Given the description of an element on the screen output the (x, y) to click on. 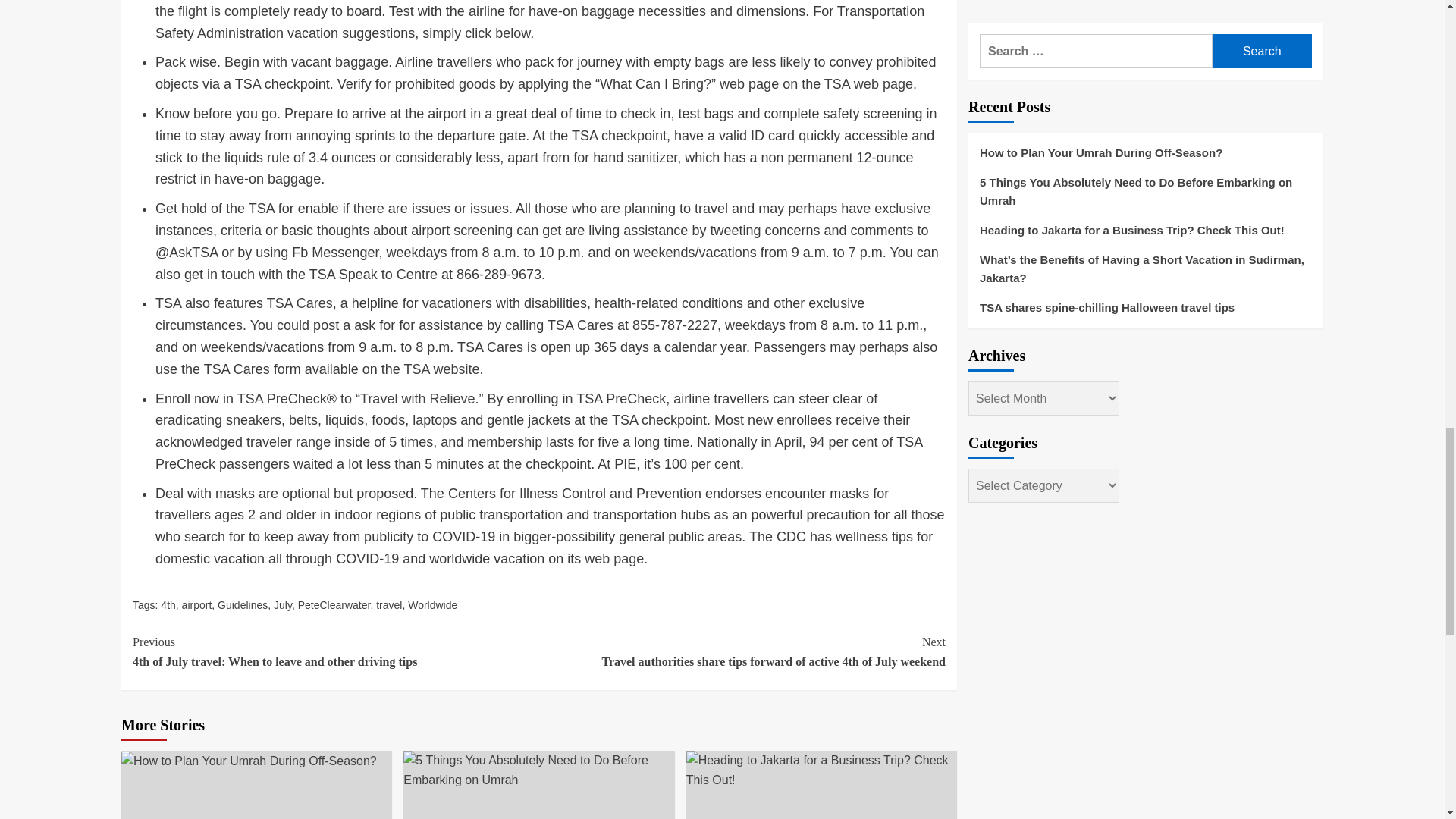
4th (167, 604)
Heading to Jakarta for a Business Trip? Check This Out! (820, 770)
Guidelines (241, 604)
PeteClearwater (334, 604)
web page. (616, 558)
travel (388, 604)
5 Things You Absolutely Need to Do Before Embarking on Umrah (538, 770)
TSA Cares (299, 303)
TSA web page. (870, 83)
